Given the description of an element on the screen output the (x, y) to click on. 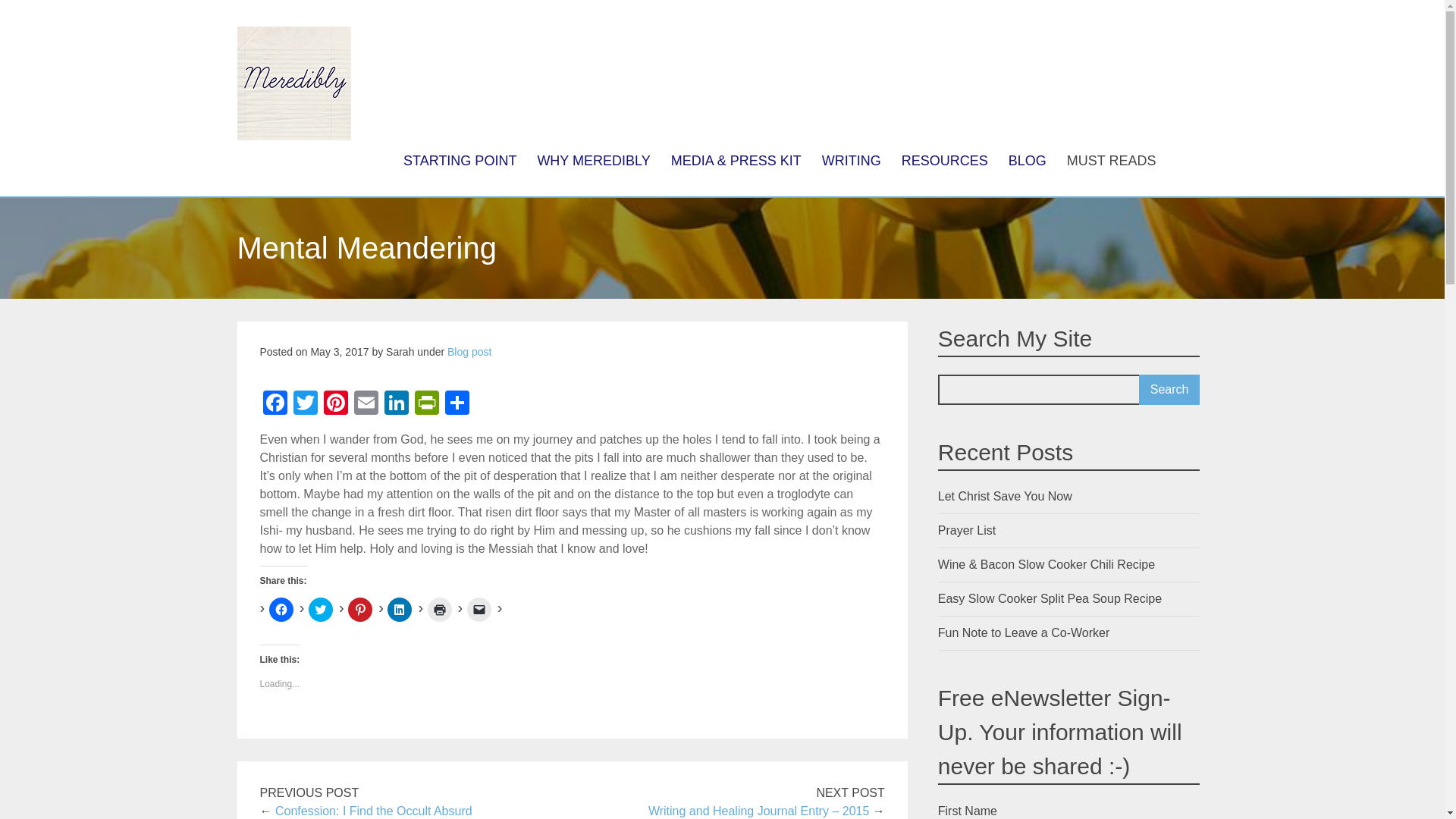
MUST READS (1111, 160)
Click to share on LinkedIn (399, 609)
Pinterest (335, 404)
Twitter (304, 404)
Email (365, 404)
WHY MEREDIBLY (594, 160)
Click to share on Twitter (320, 609)
Click to email a link to a friend (479, 609)
PrintFriendly (425, 404)
Blog post (469, 351)
